Given the description of an element on the screen output the (x, y) to click on. 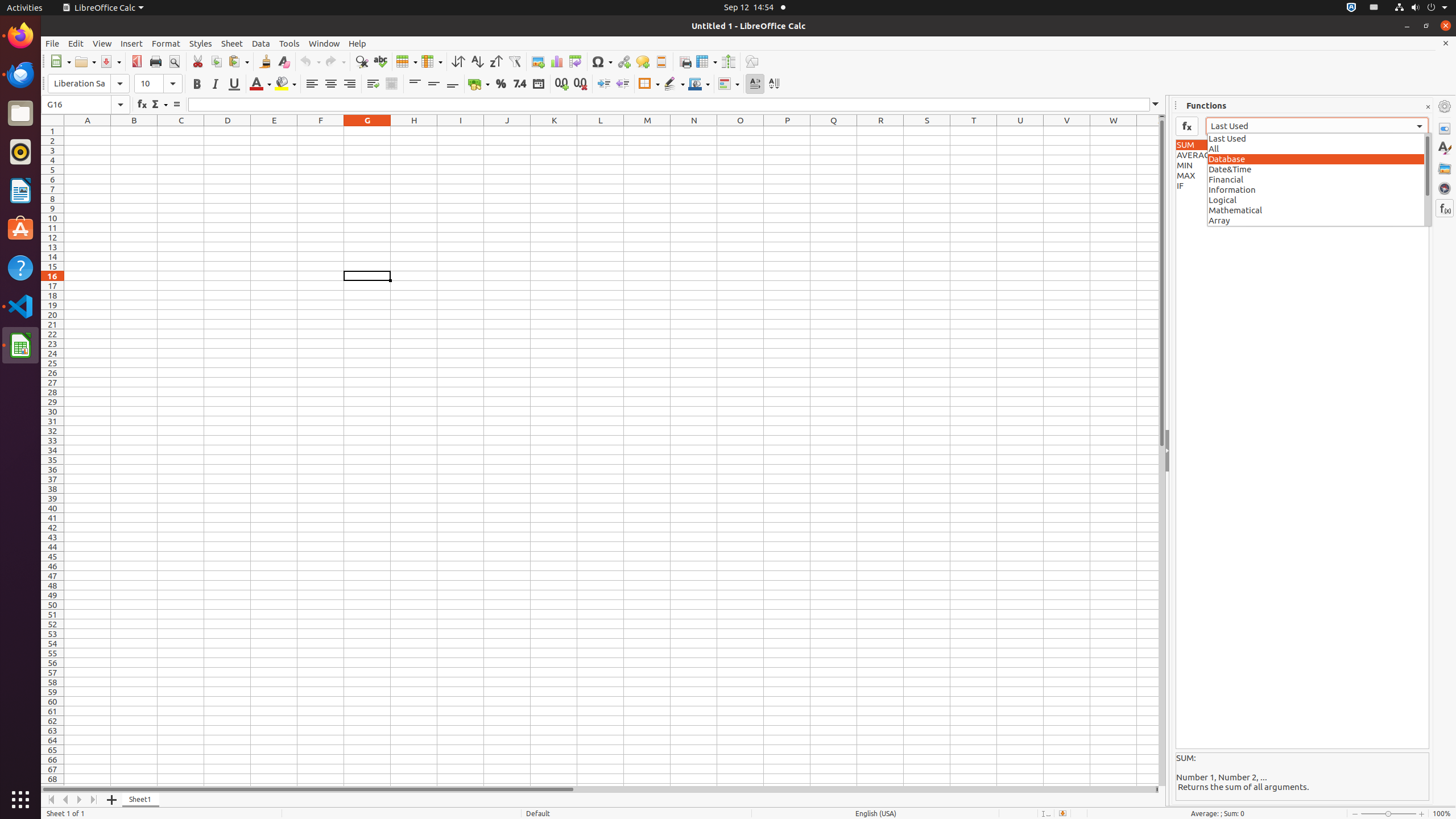
Expand Formula Bar Element type: push-button (1155, 104)
J1 Element type: table-cell (507, 130)
Wrap Text Element type: push-button (372, 83)
Financial Element type: list-item (1319, 179)
D1 Element type: table-cell (227, 130)
